Given the description of an element on the screen output the (x, y) to click on. 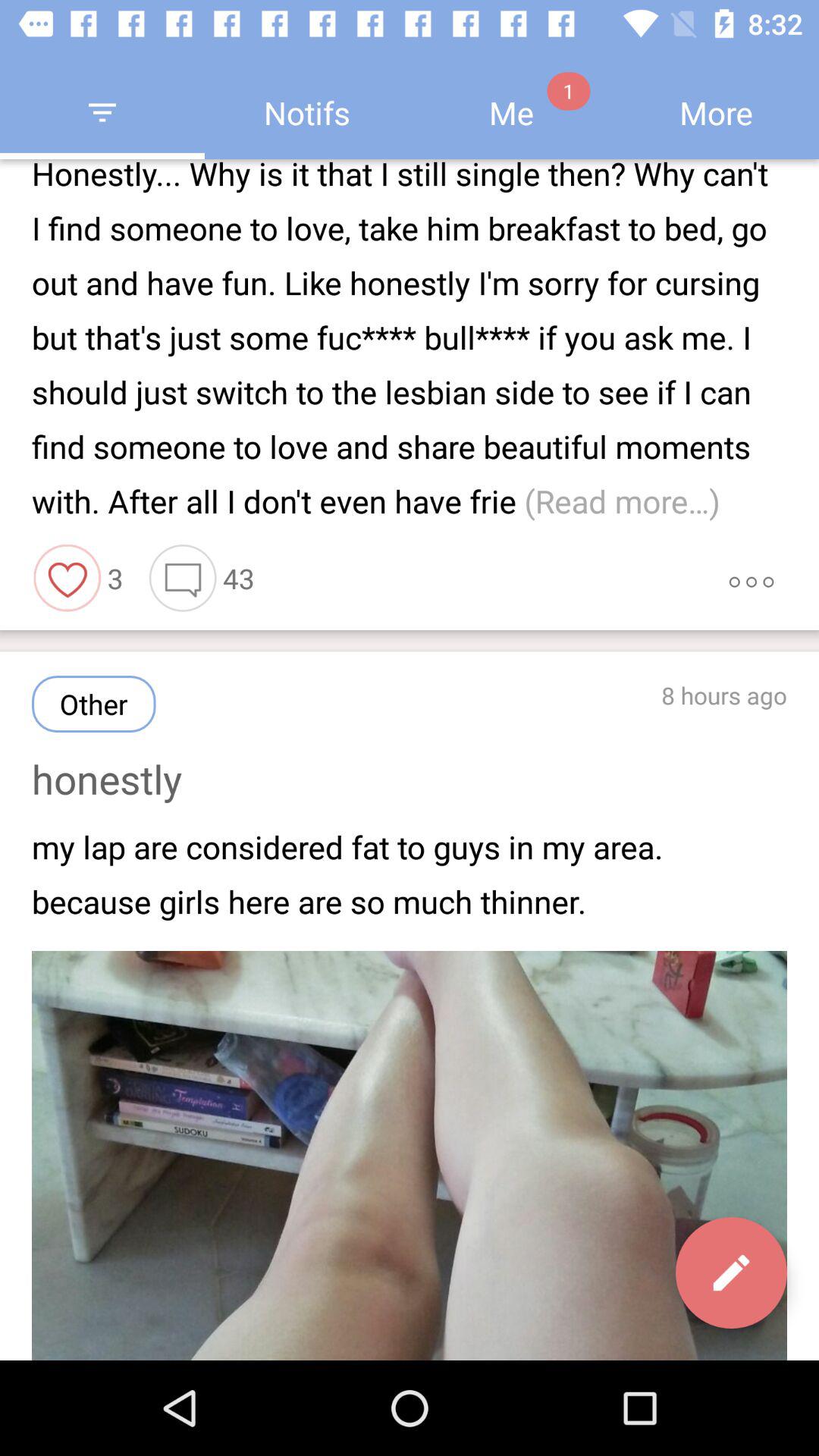
open the icon next to 8 hours ago icon (93, 703)
